Given the description of an element on the screen output the (x, y) to click on. 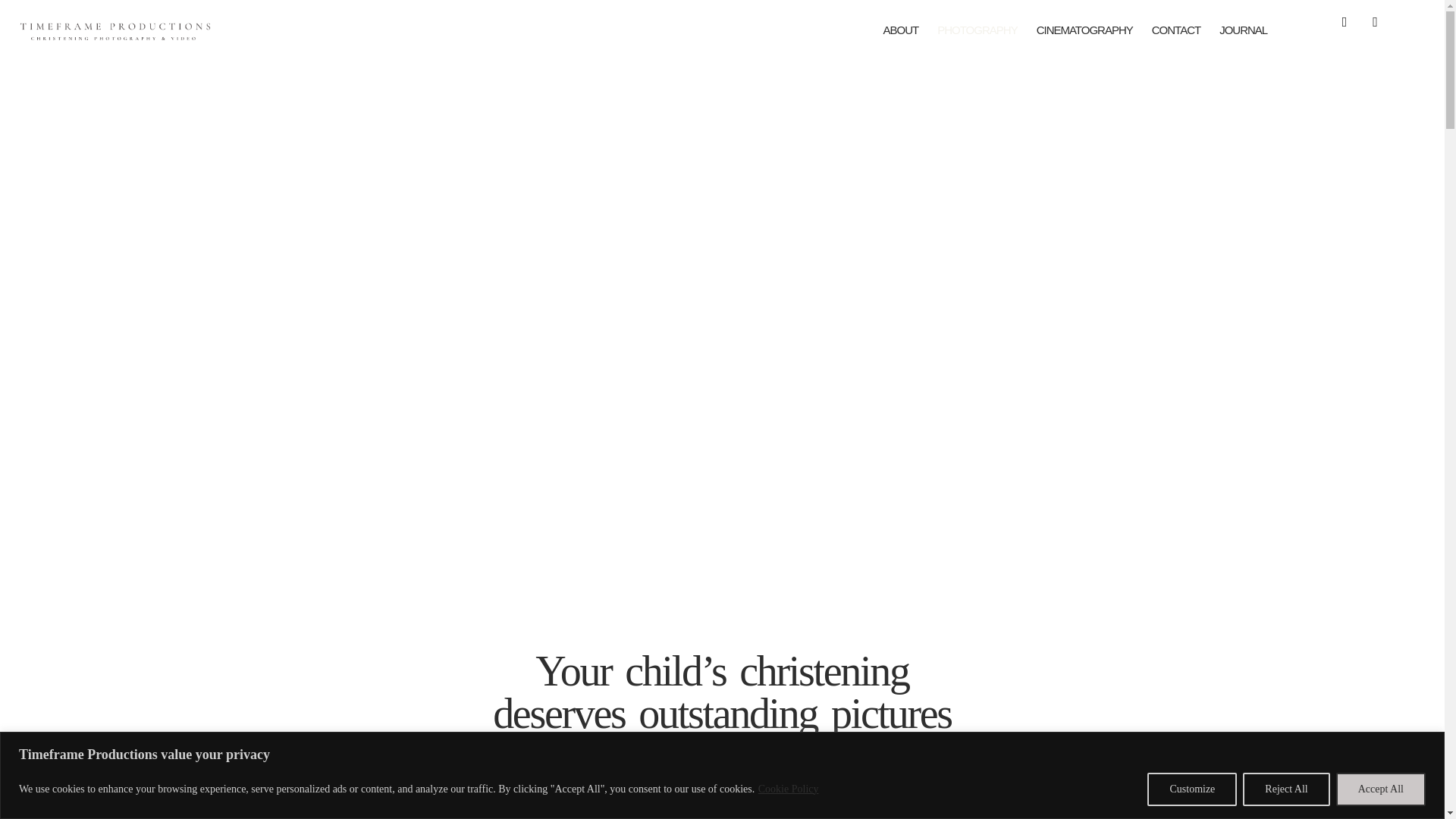
Reject All (1286, 788)
PHOTOGRAPHY (977, 29)
CONTACT (1175, 29)
Accept All (1380, 788)
Customize (1191, 788)
CINEMATOGRAPHY (1084, 29)
ABOUT (901, 29)
Cookie Policy (788, 788)
JOURNAL (1242, 29)
